Given the description of an element on the screen output the (x, y) to click on. 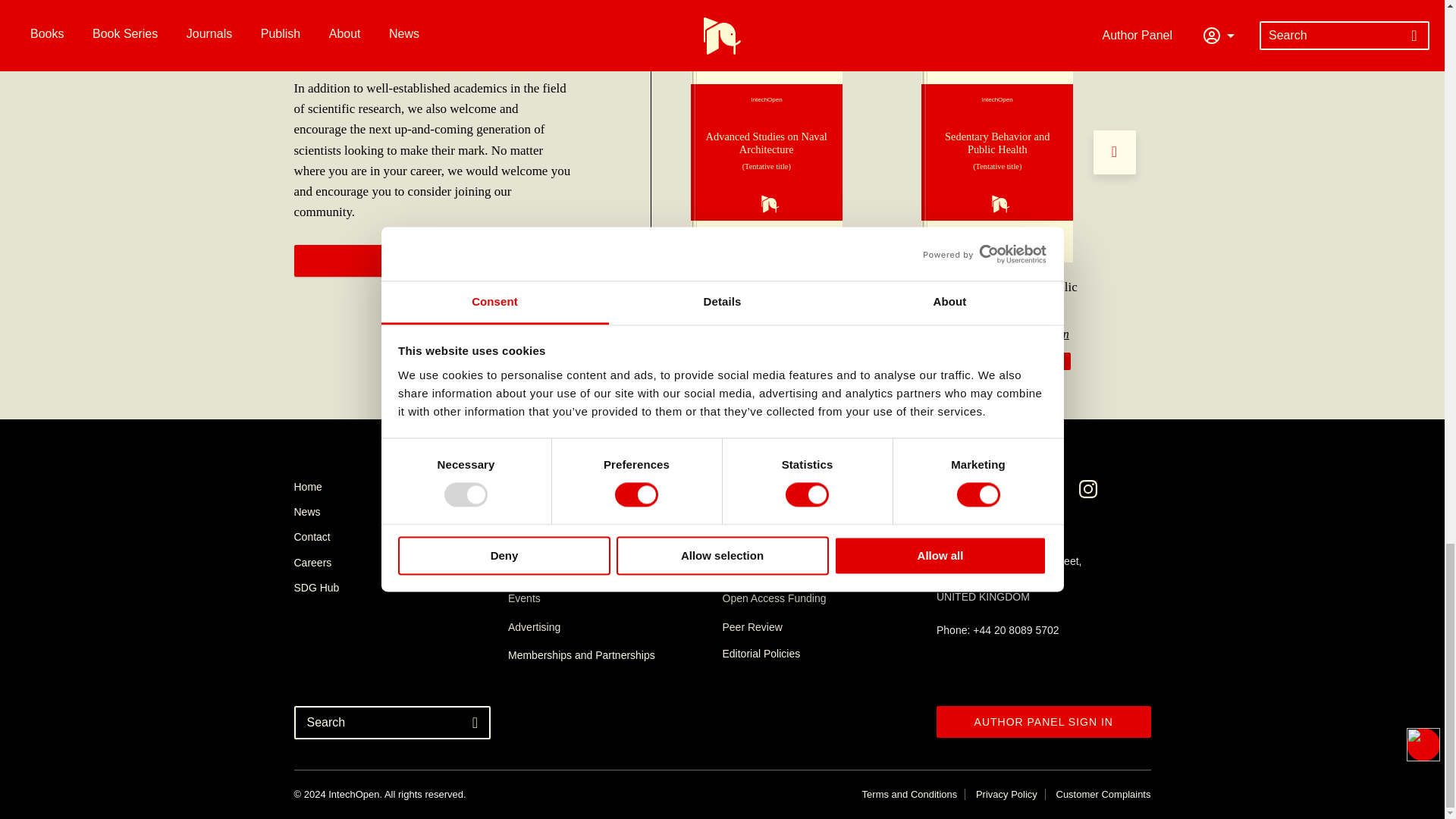
IntechOpen (997, 152)
IntechOpen (766, 152)
